Given the description of an element on the screen output the (x, y) to click on. 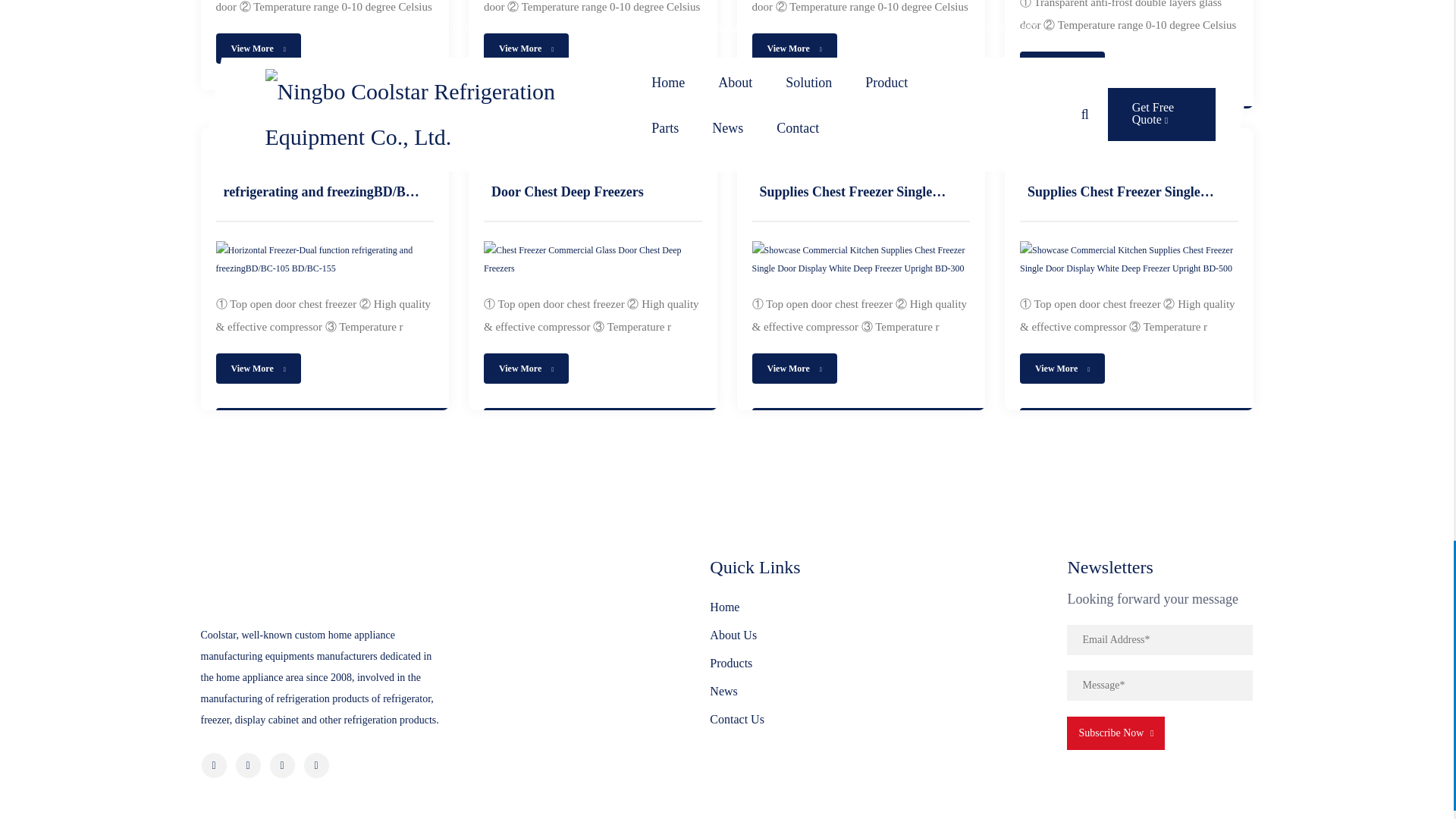
Chest Freezer Commercial Glass Door Chest Deep Freezers (592, 258)
